Given the description of an element on the screen output the (x, y) to click on. 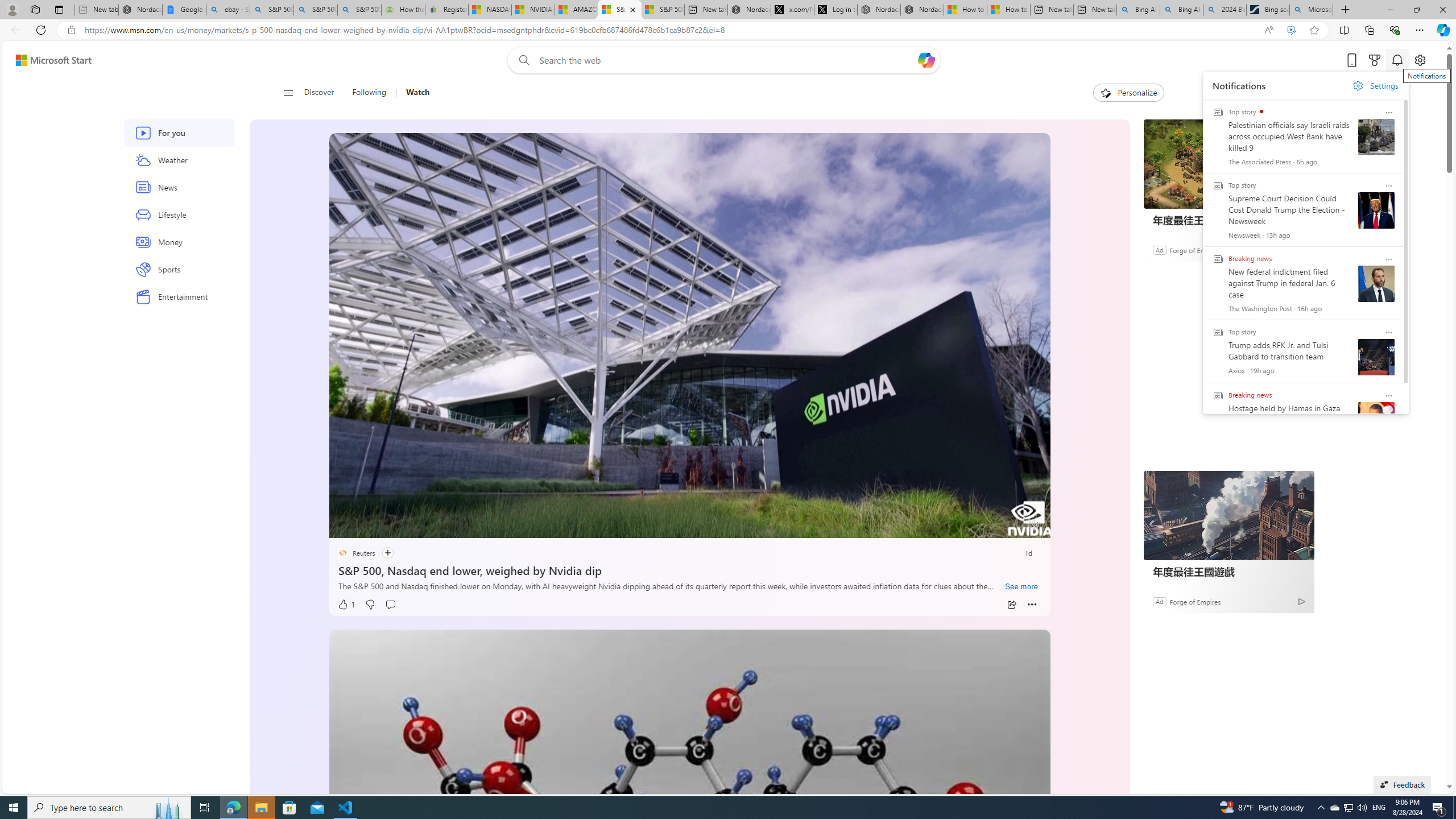
Enhance video (1291, 29)
Open navigation menu (287, 92)
Skip to footer (46, 59)
Follow (381, 553)
